Given the description of an element on the screen output the (x, y) to click on. 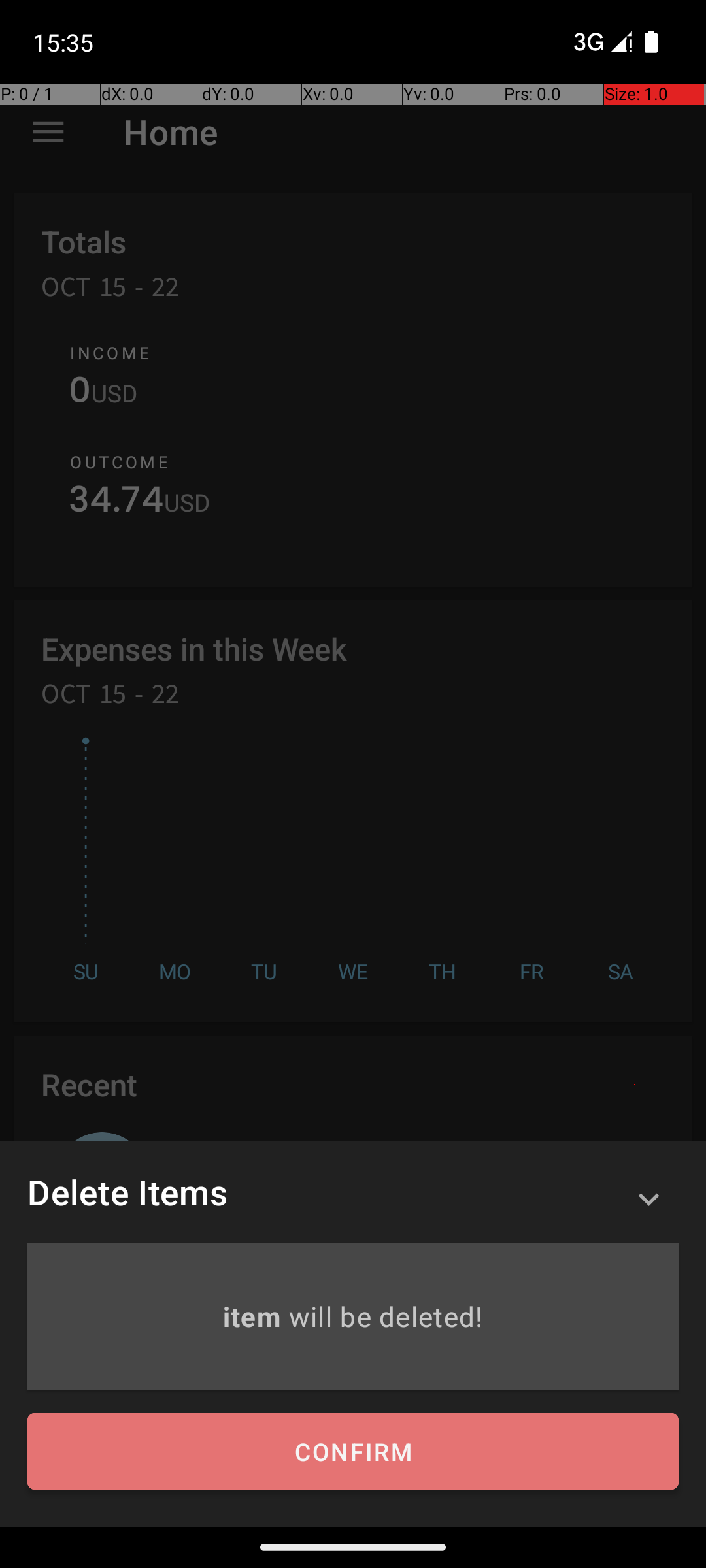
Delete Items Element type: android.widget.TextView (127, 1191)
item  Element type: android.widget.TextView (255, 1315)
will be deleted! Element type: android.widget.TextView (385, 1315)
CONFIRM Element type: android.widget.Button (352, 1451)
15:35 Element type: android.widget.TextView (64, 41)
